Given the description of an element on the screen output the (x, y) to click on. 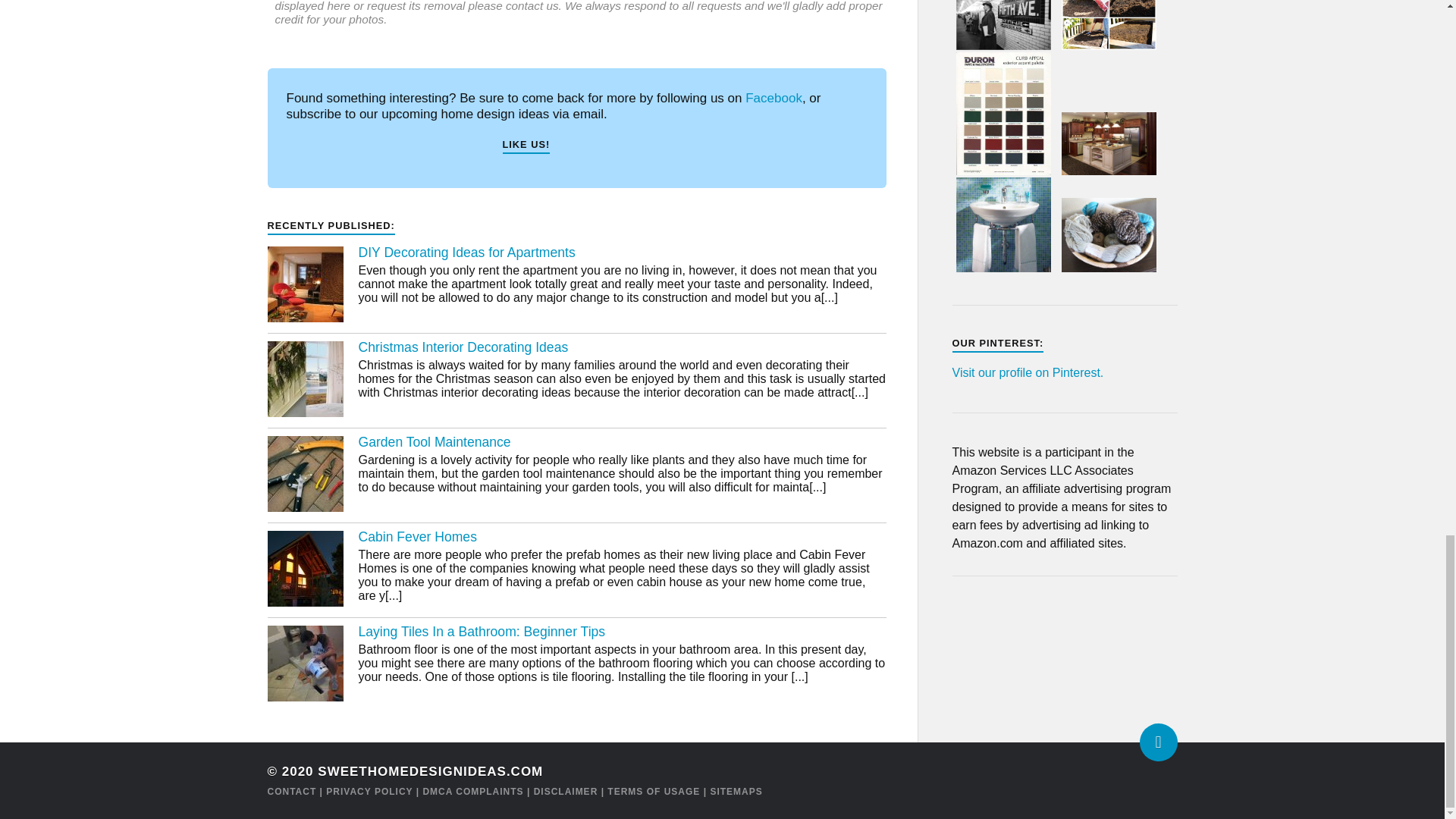
DIY Decorating Ideas for Apartments (304, 285)
Christmas Interior Decorating Ideas (304, 380)
Christmas Interior Decorating Ideas (462, 346)
DIY Decorating Ideas for Apartments (466, 252)
